Given the description of an element on the screen output the (x, y) to click on. 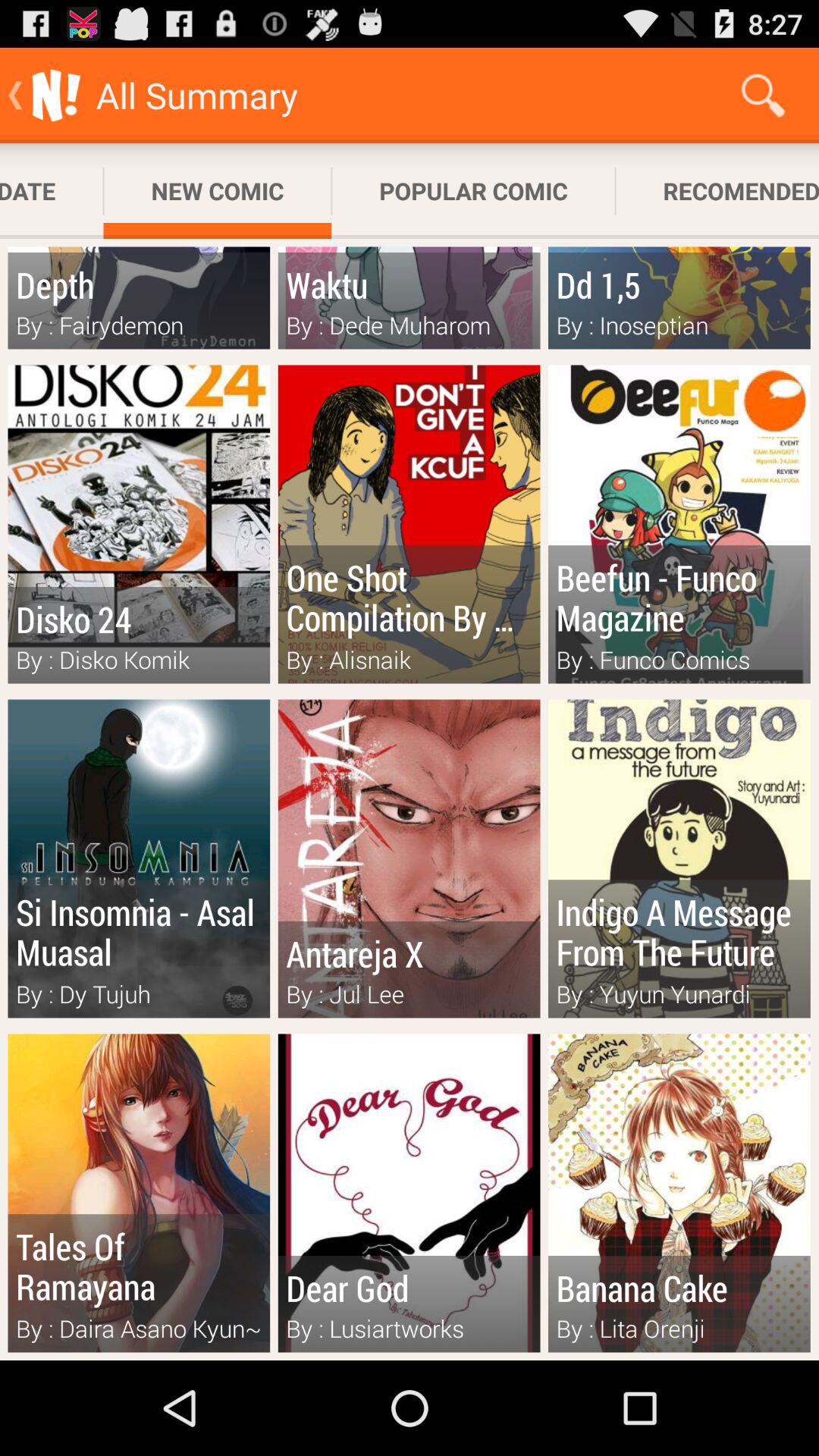
scroll until new comic item (217, 190)
